Given the description of an element on the screen output the (x, y) to click on. 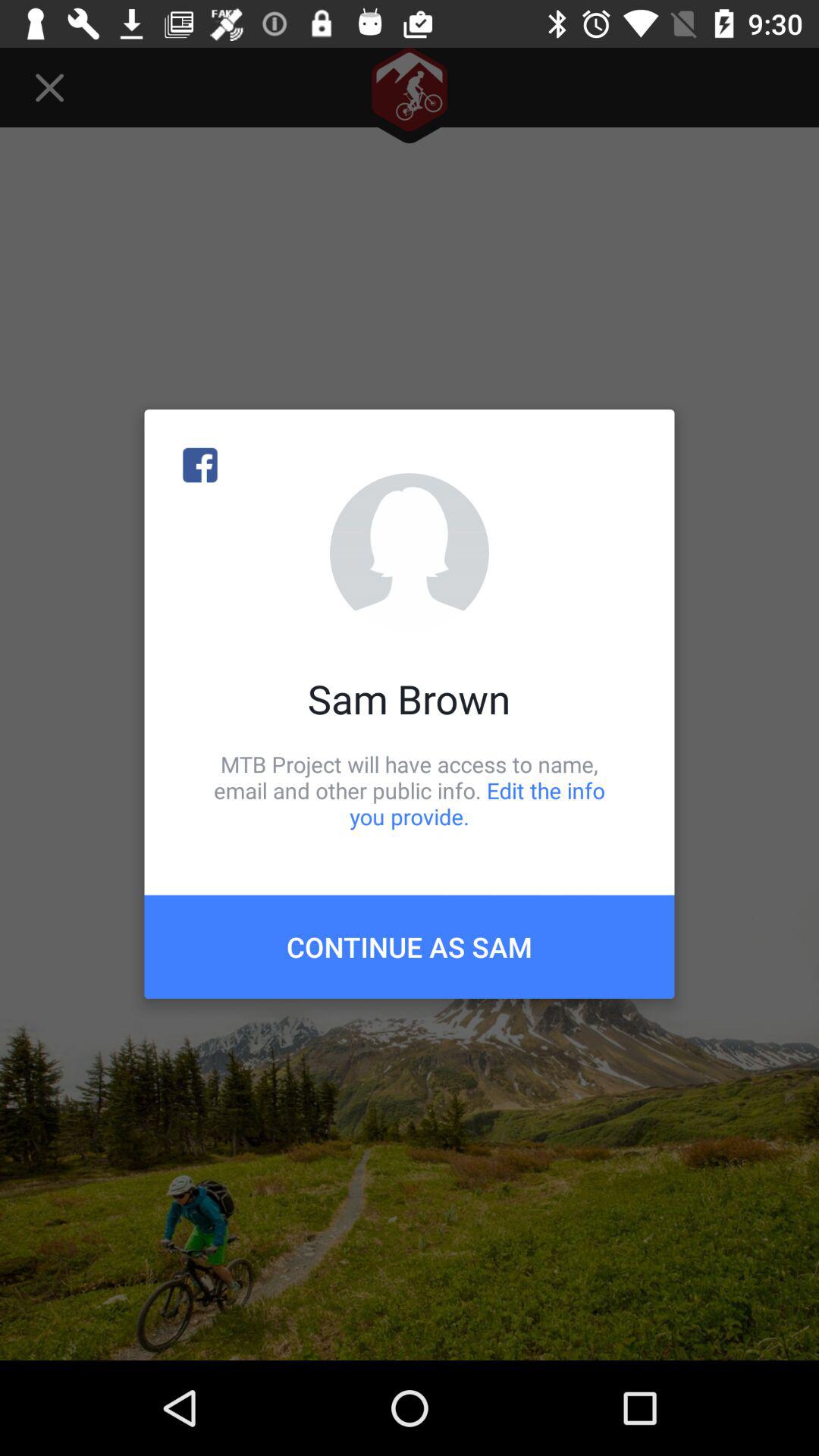
jump to continue as sam (409, 946)
